Given the description of an element on the screen output the (x, y) to click on. 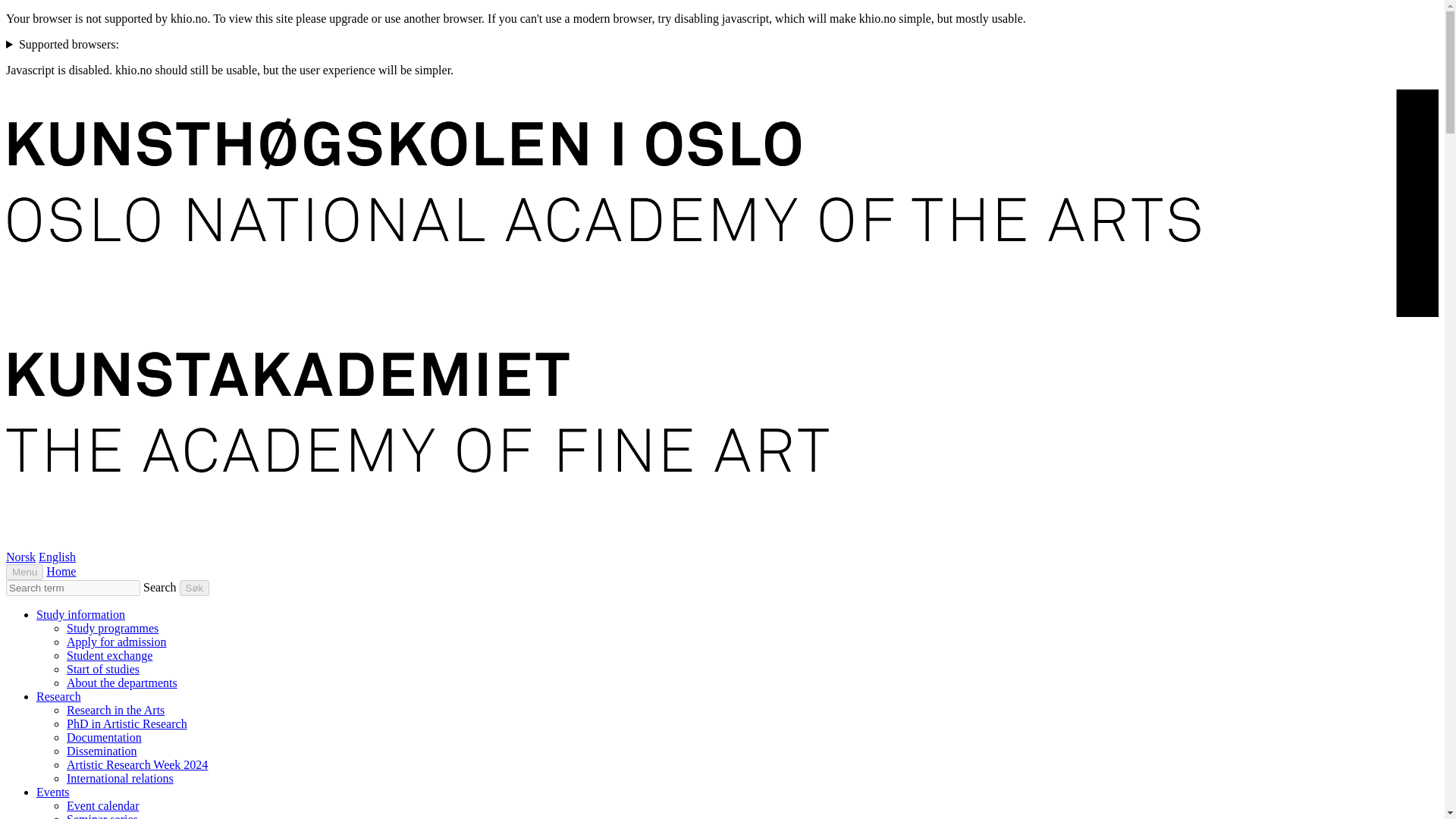
Event calendar (102, 805)
Apply for admission (116, 641)
Student exchange (109, 655)
Home (60, 571)
English (57, 556)
PhD in Artistic Research (126, 723)
Dissemination (101, 750)
Artistic Research Week 2024 (137, 764)
Documentation (103, 737)
Research (58, 696)
